Given the description of an element on the screen output the (x, y) to click on. 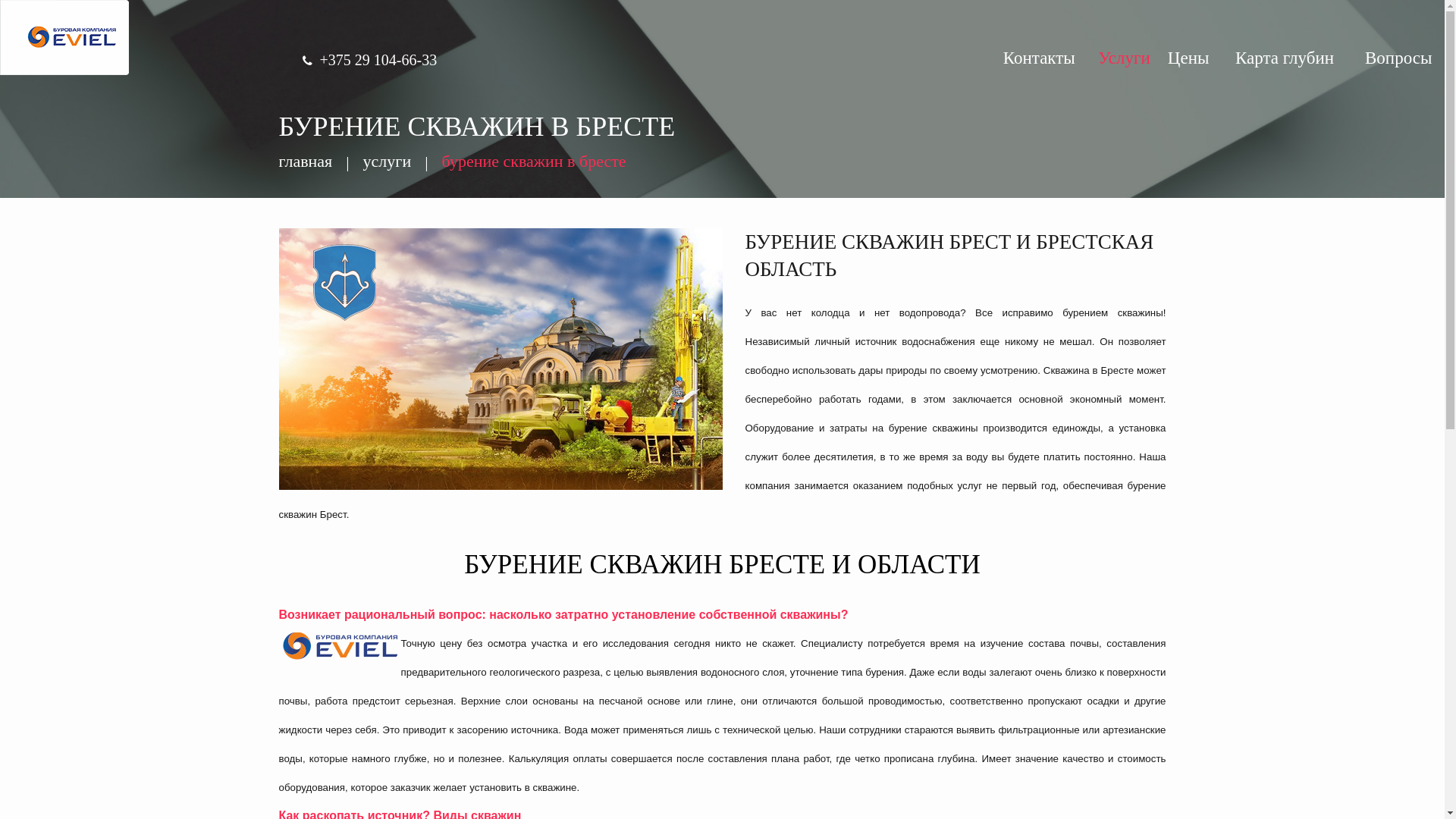
+375 29 104-66-33 Element type: text (378, 59)
